Given the description of an element on the screen output the (x, y) to click on. 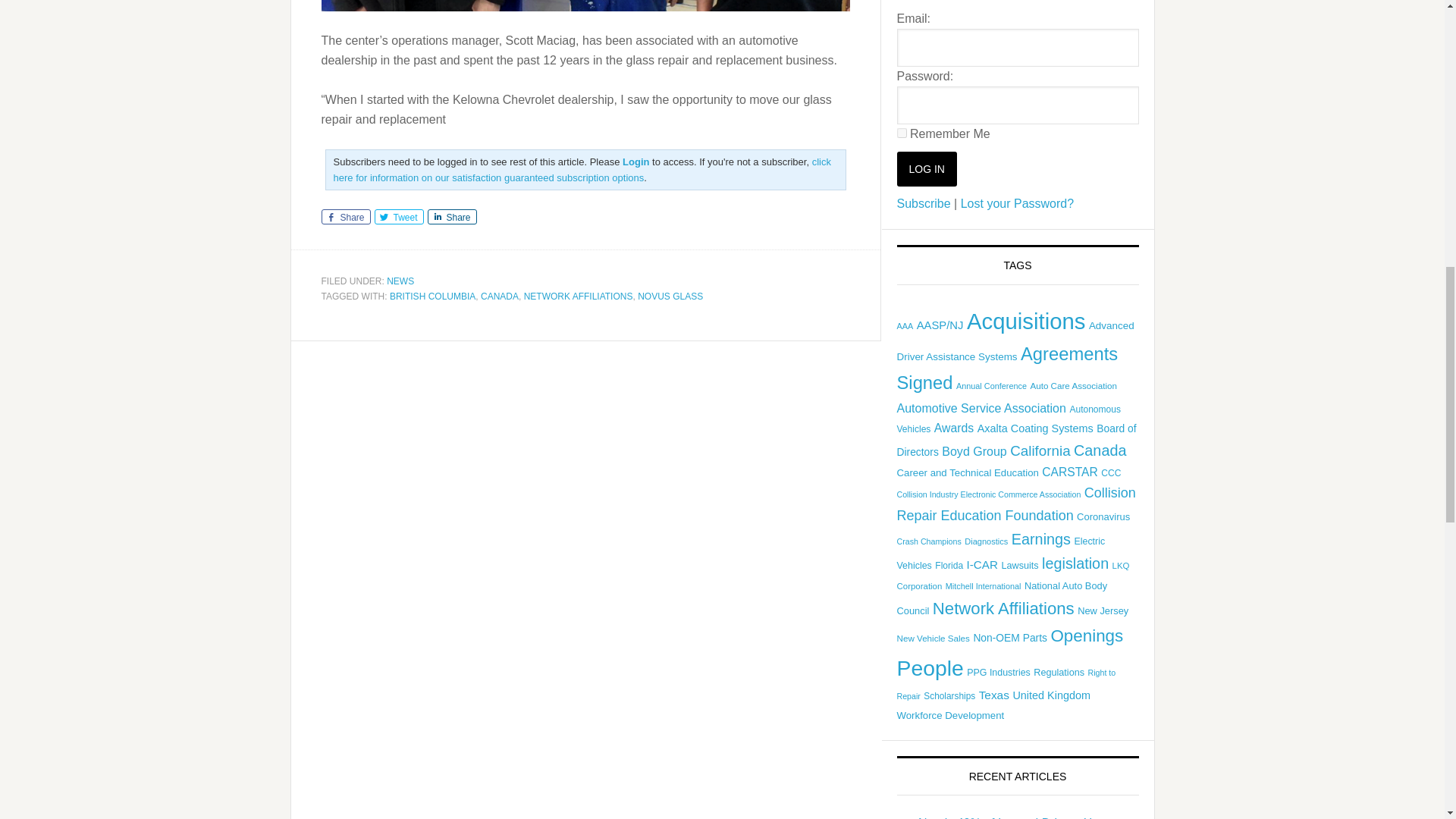
Agreements Signed (1007, 368)
Login (636, 161)
Advanced Driver Assistance Systems (1015, 341)
Share (452, 216)
NOVUS GLASS (670, 296)
Tweet (398, 216)
Acquisitions (1026, 320)
CANADA (499, 296)
Lost your Password? (1017, 203)
